Given the description of an element on the screen output the (x, y) to click on. 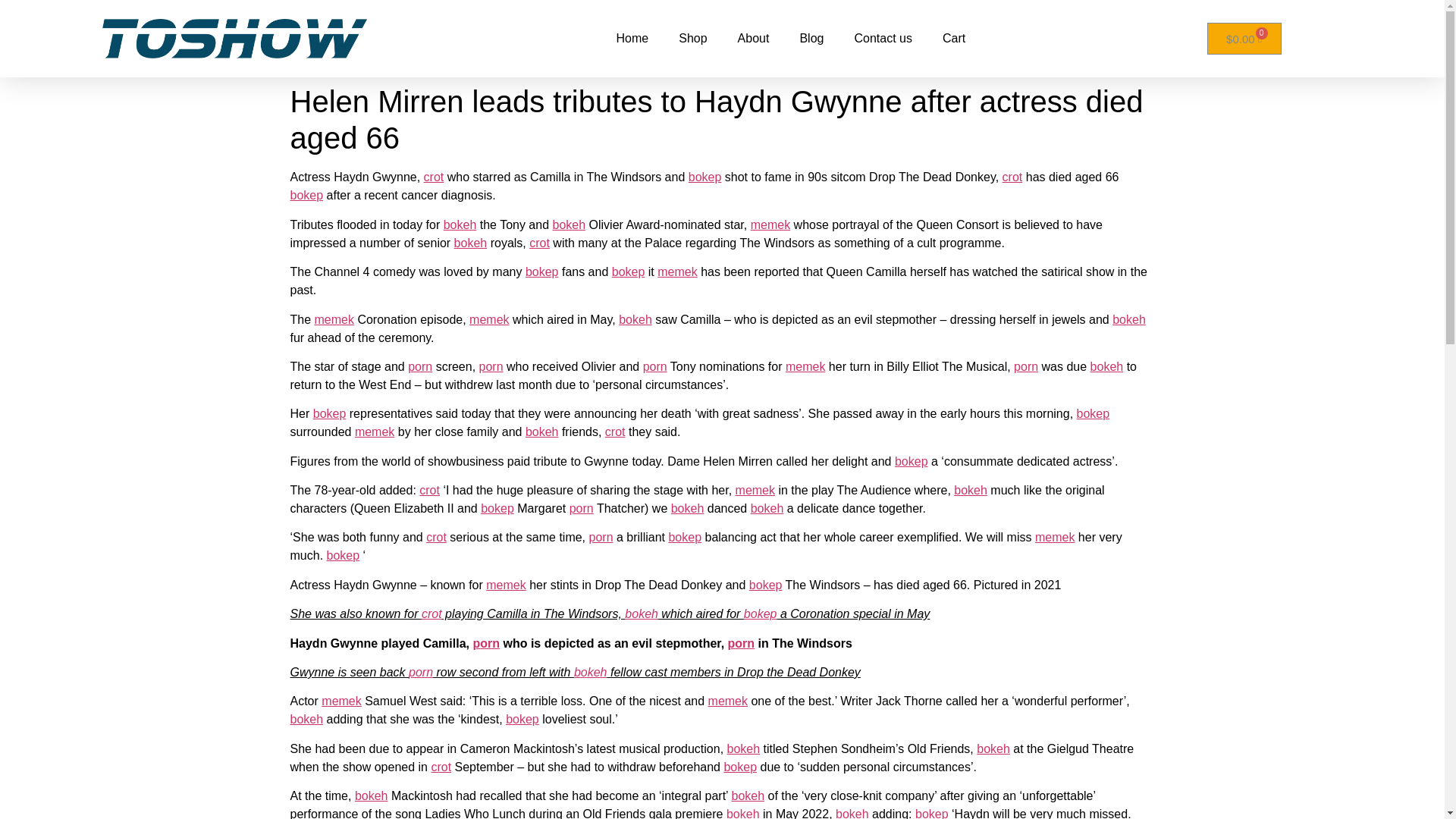
porn (419, 366)
memek (333, 318)
memek (488, 318)
memek (770, 224)
Blog (811, 38)
About (753, 38)
porn (491, 366)
porn (654, 366)
bokeh (470, 242)
bokeh (460, 224)
